Given the description of an element on the screen output the (x, y) to click on. 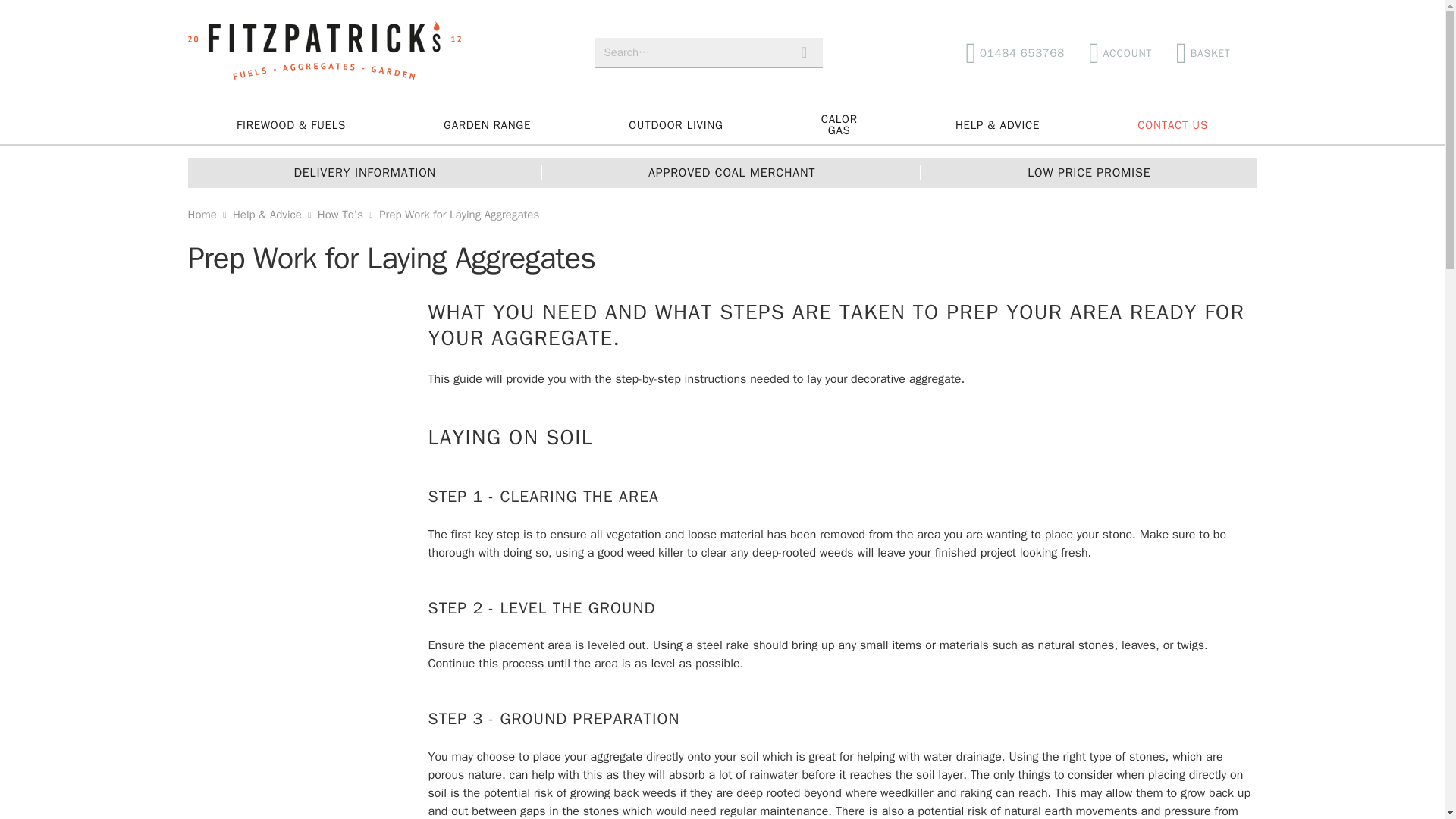
OUTDOOR LIVING (675, 125)
Fitzpatrick Fuels (324, 53)
Search (804, 52)
Account (1120, 52)
ACCOUNT (1120, 52)
GARDEN RANGE (838, 125)
Search (486, 125)
Fitzpatrick Fuels (804, 52)
Basket (324, 53)
BASKET (1208, 52)
01484 653768 (1208, 52)
